Given the description of an element on the screen output the (x, y) to click on. 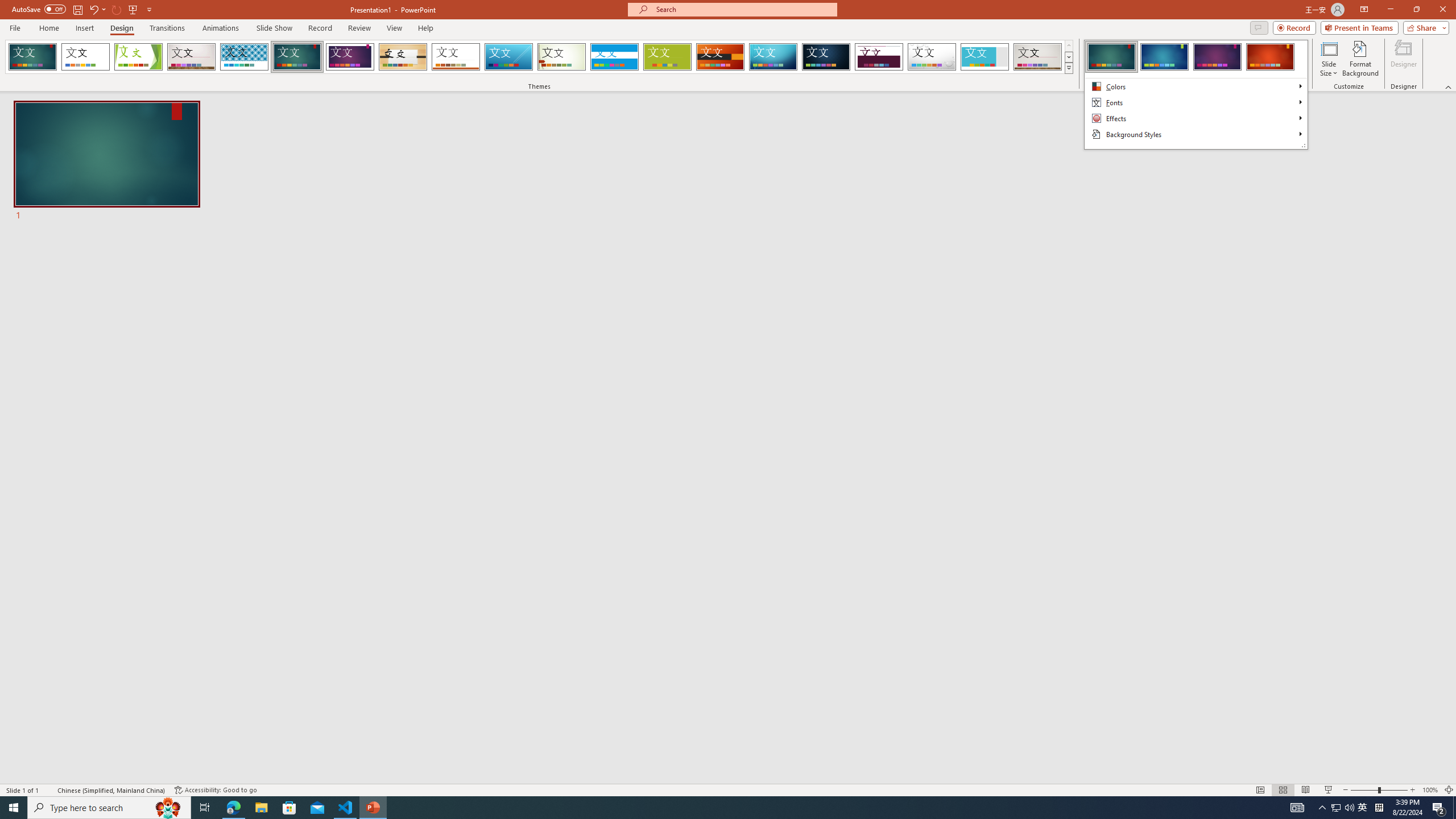
Circuit Loading Preview... (772, 56)
Zoom 100% (1430, 790)
Banded Loading Preview... (614, 56)
Droplet Loading Preview... (931, 56)
